Given the description of an element on the screen output the (x, y) to click on. 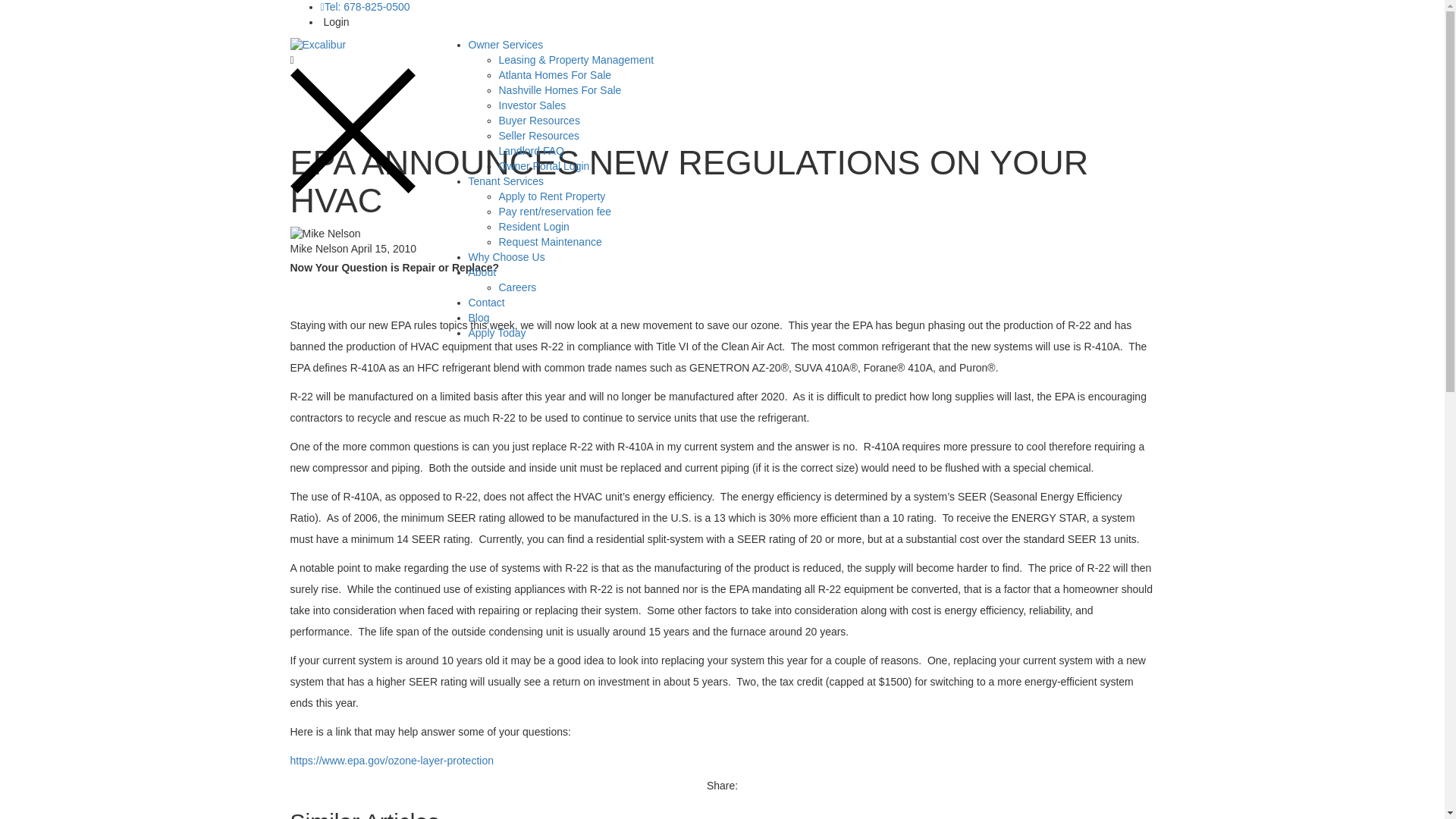
Careers (518, 287)
Resident Login (534, 226)
Seller Resources (539, 135)
Tel: 678-825-0500 (364, 6)
Tenant Services (506, 181)
Request Maintenance (550, 241)
Apply to Rent Property (552, 196)
Owner Services (505, 44)
Why Choose Us (506, 256)
Investor Sales (532, 105)
